Given the description of an element on the screen output the (x, y) to click on. 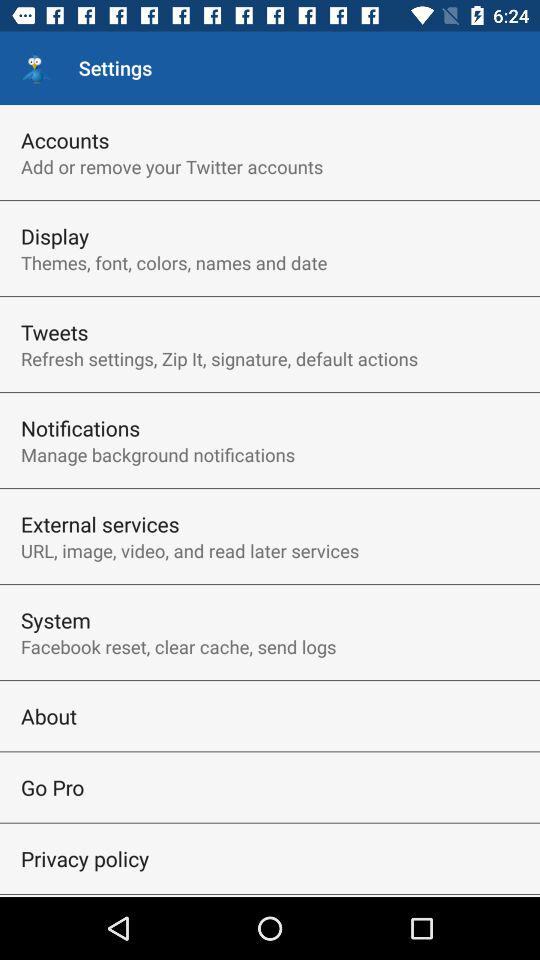
click the item below display item (174, 262)
